Given the description of an element on the screen output the (x, y) to click on. 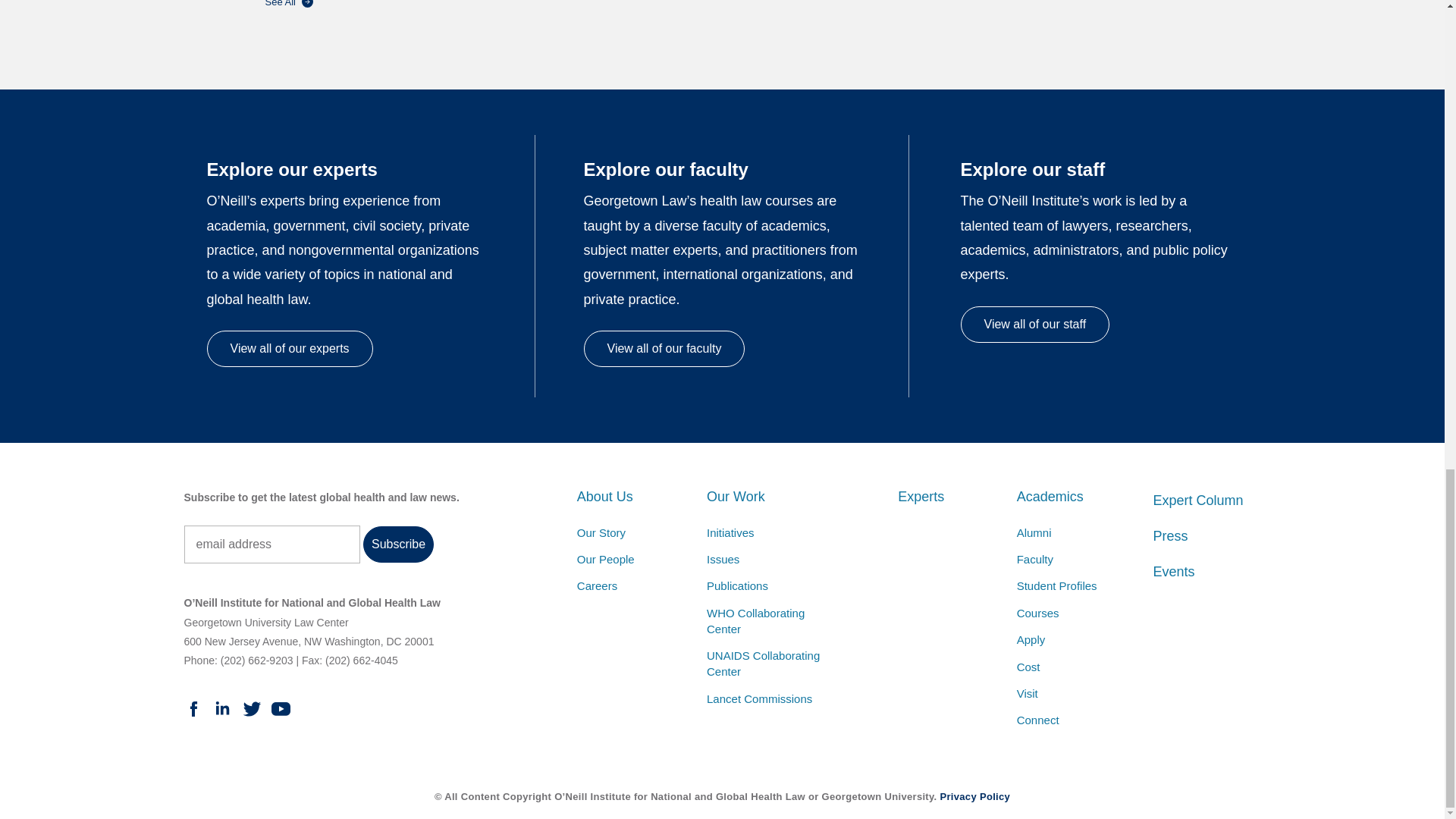
Subscribe (397, 544)
